Given the description of an element on the screen output the (x, y) to click on. 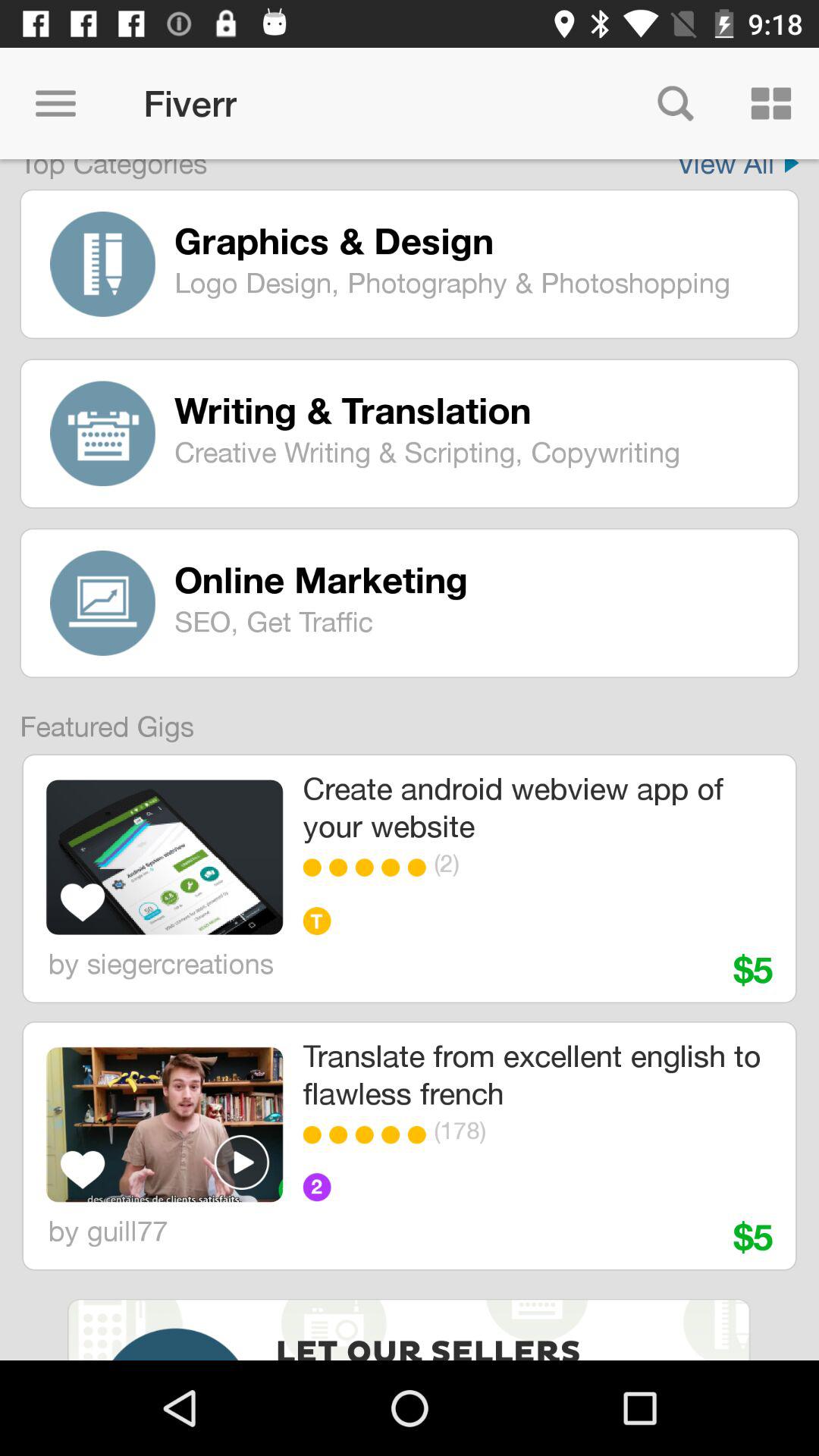
press icon to the right of fiverr icon (675, 103)
